Given the description of an element on the screen output the (x, y) to click on. 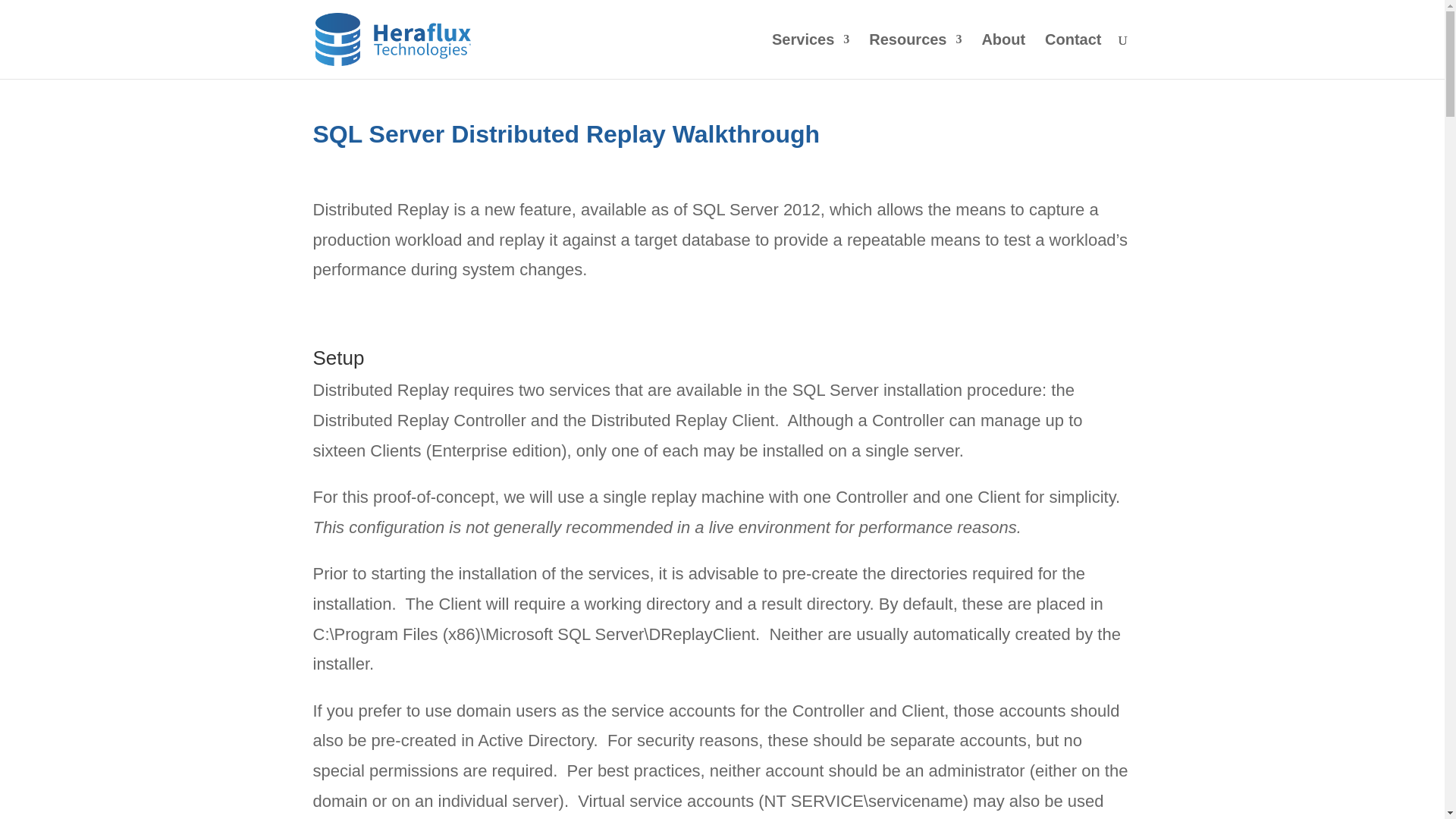
Contact (1072, 56)
Services (809, 56)
About (1003, 56)
Resources (914, 56)
